Given the description of an element on the screen output the (x, y) to click on. 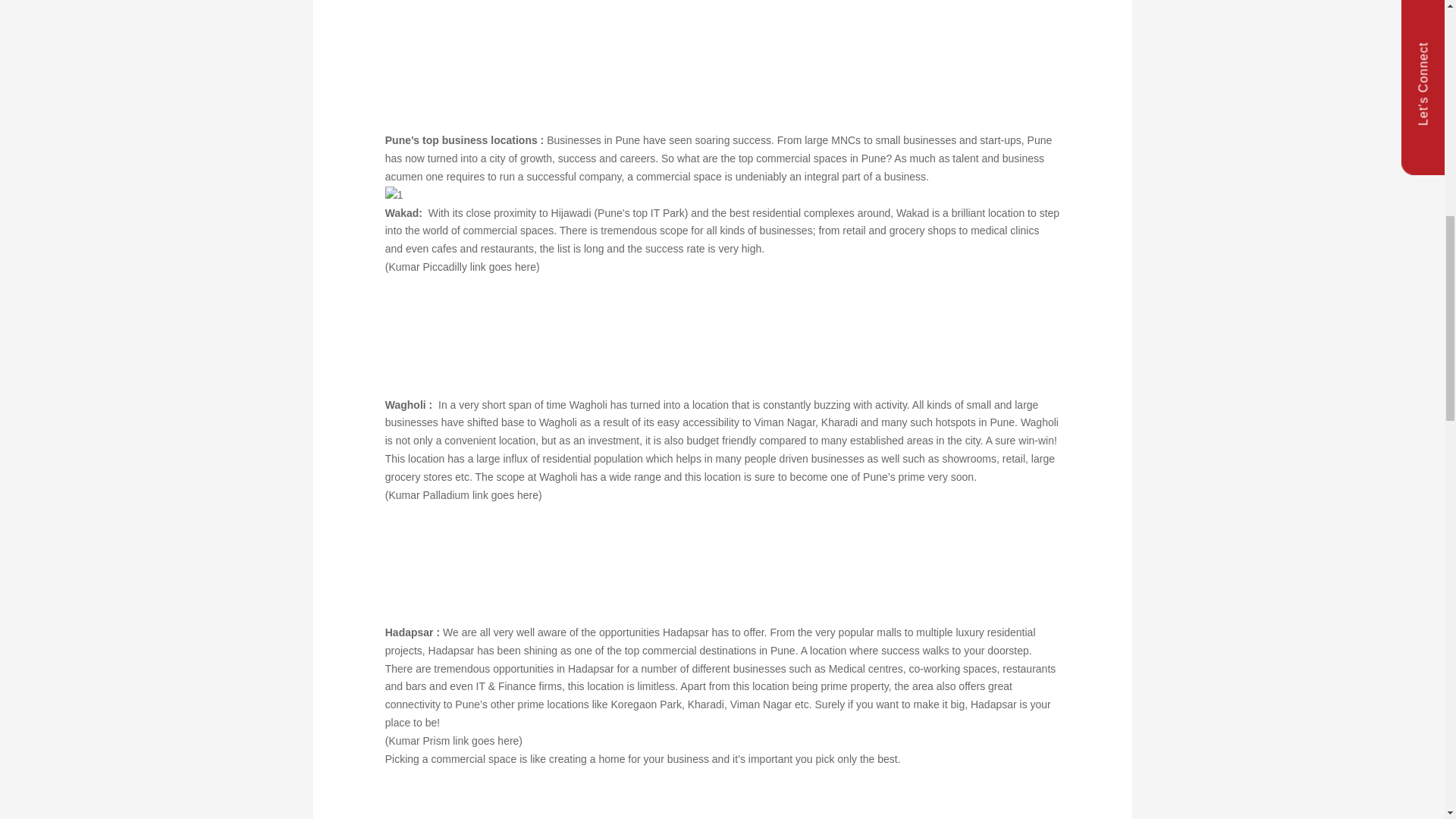
1 (394, 195)
2 (498, 333)
3 (498, 561)
